Given the description of an element on the screen output the (x, y) to click on. 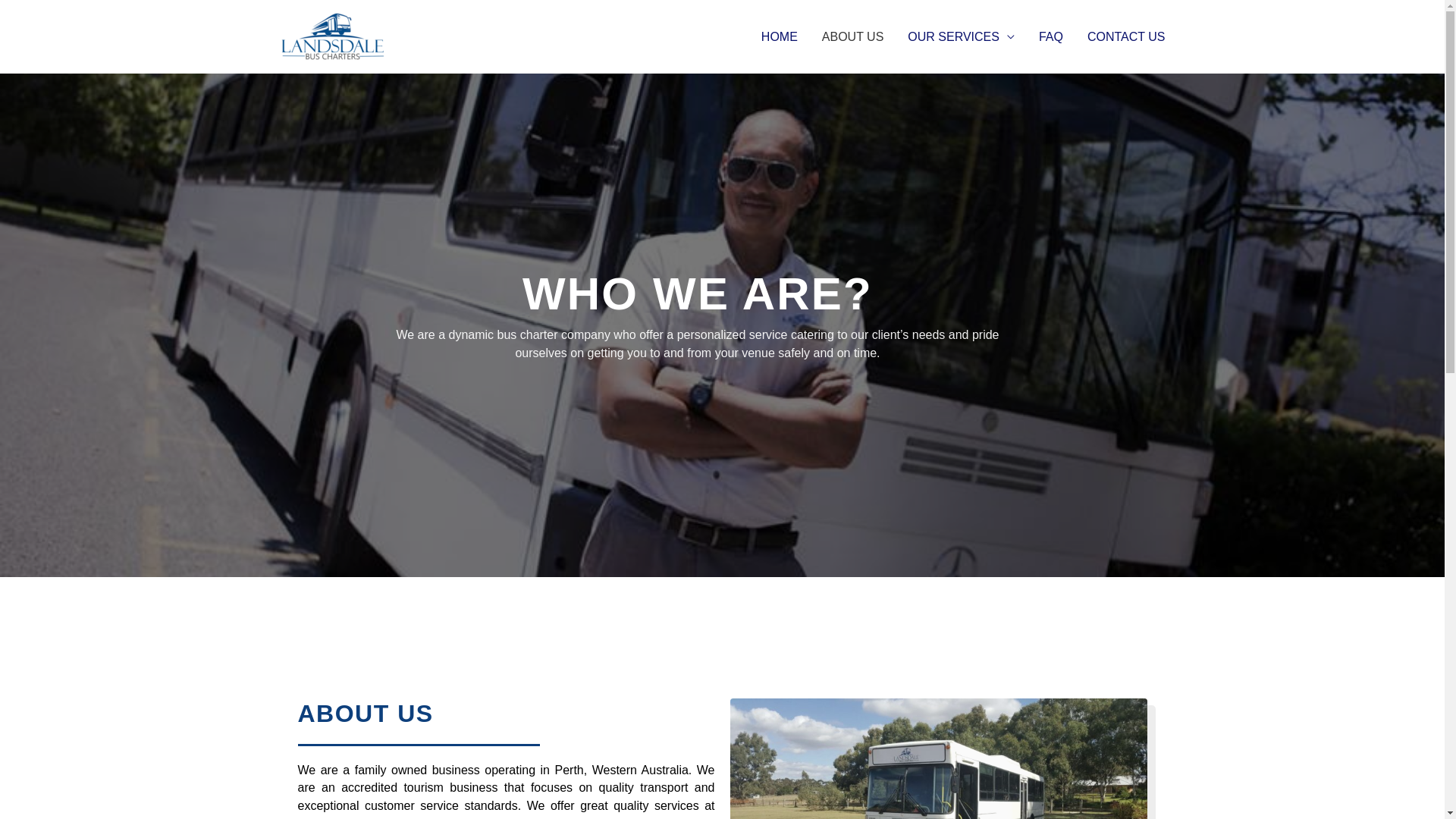
HOME Element type: text (779, 36)
OUR SERVICES Element type: text (960, 36)
CONTACT US Element type: text (1126, 36)
ABOUT US Element type: text (852, 36)
FAQ Element type: text (1050, 36)
